Given the description of an element on the screen output the (x, y) to click on. 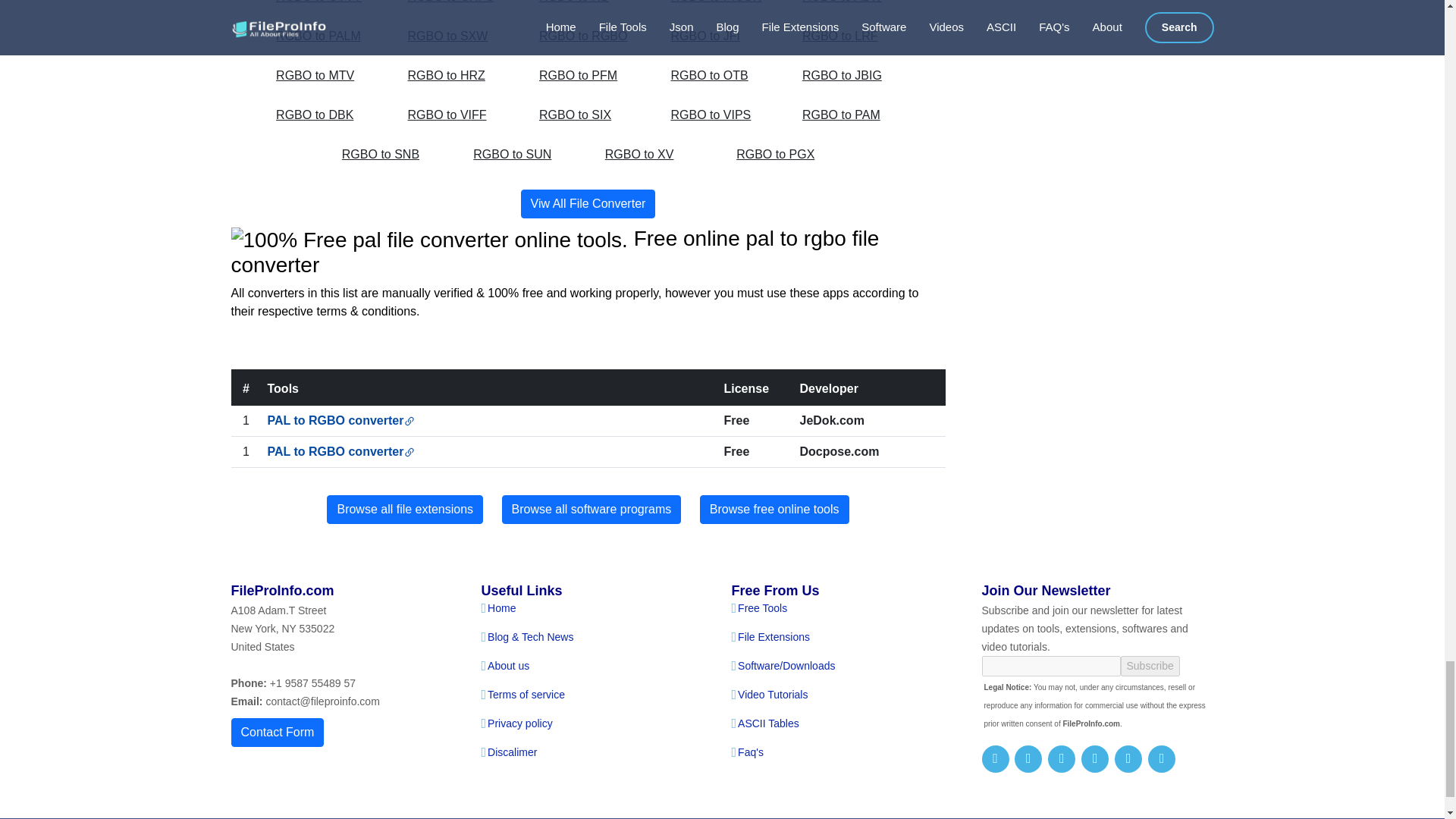
Subscribe (1150, 666)
